Given the description of an element on the screen output the (x, y) to click on. 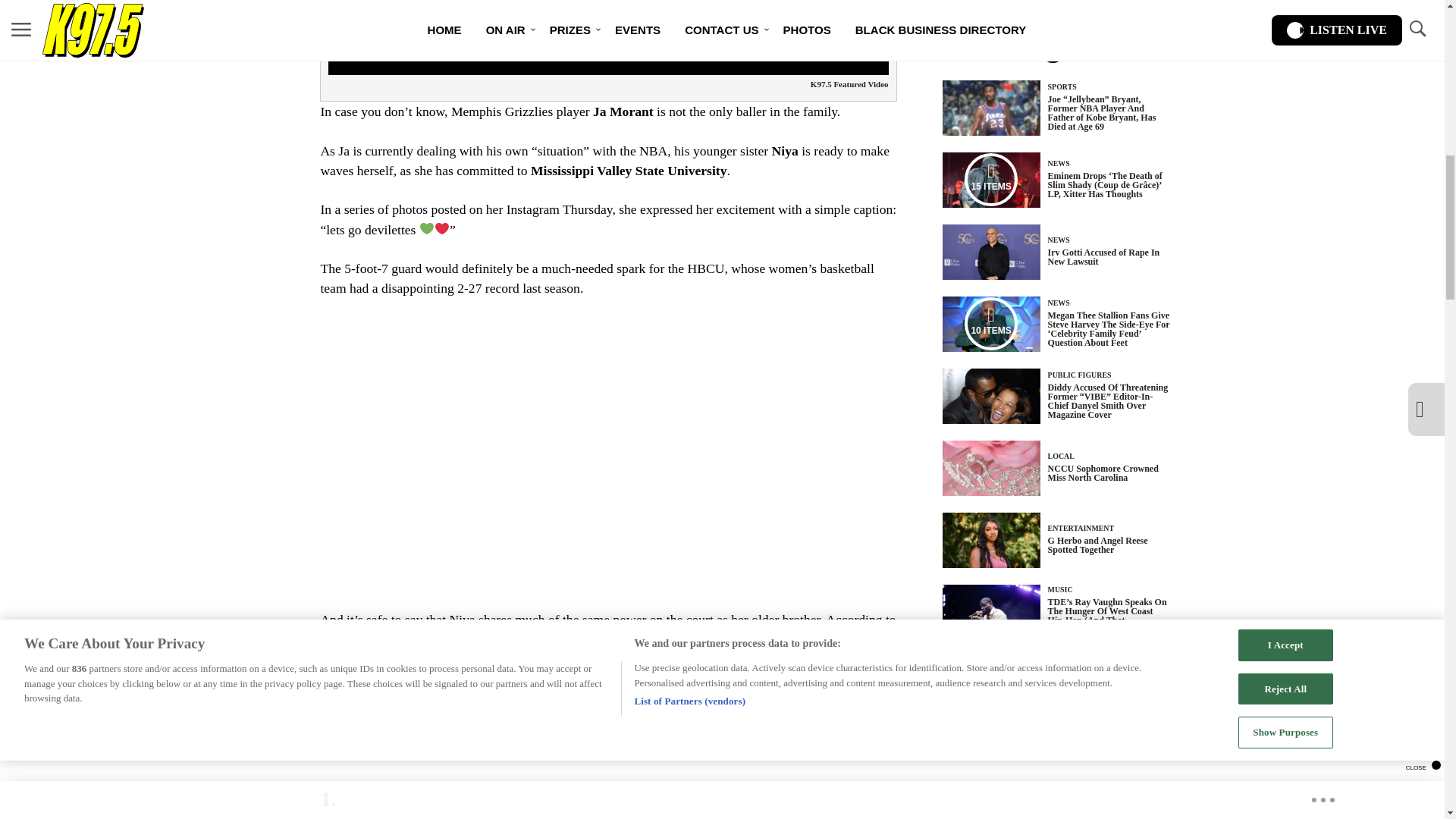
Media Playlist (990, 179)
Outkick (341, 639)
15 ITEMS (991, 180)
Media Playlist (990, 323)
SPORTS (1062, 86)
Embedded video (607, 453)
